Given the description of an element on the screen output the (x, y) to click on. 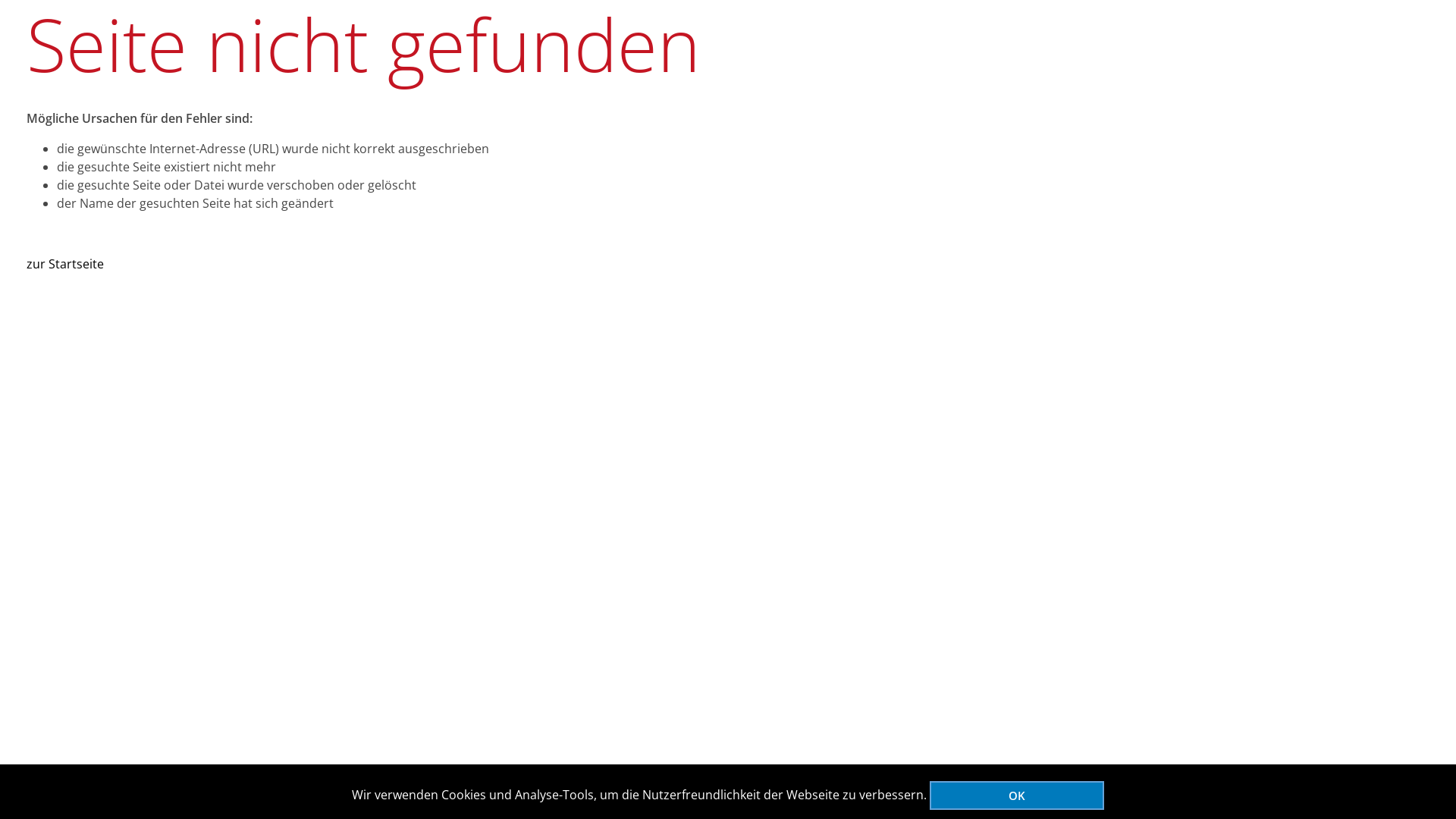
OK Element type: text (1016, 795)
zur Startseite Element type: text (64, 263)
